Given the description of an element on the screen output the (x, y) to click on. 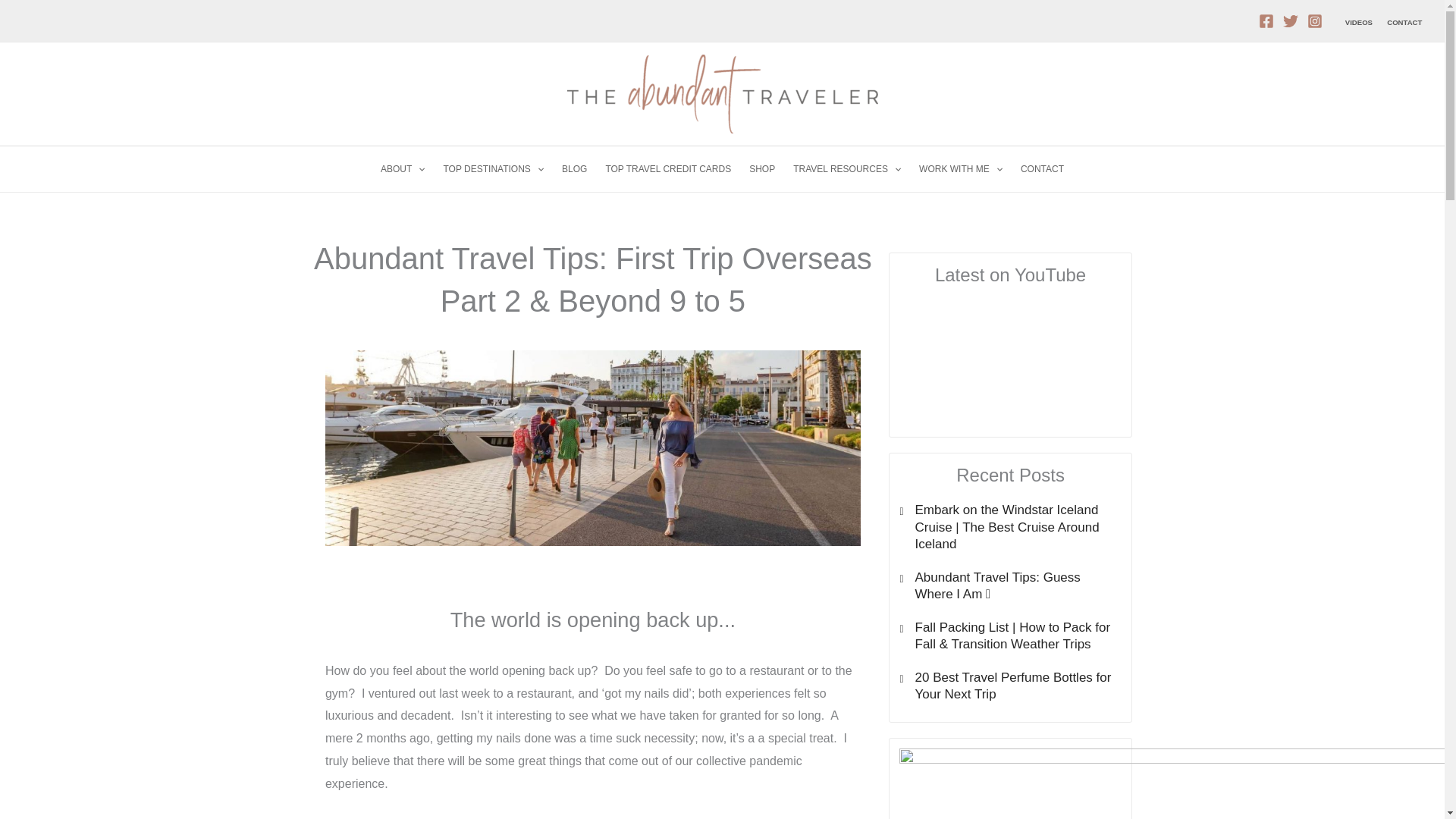
SHOP (761, 168)
TOP DESTINATIONS (493, 168)
CONTACT (1042, 168)
VIDEOS (1358, 20)
ABOUT (402, 168)
TOP TRAVEL CREDIT CARDS (667, 168)
WORK WITH ME (960, 168)
CONTACT (1404, 20)
TRAVEL RESOURCES (847, 168)
BLOG (574, 168)
